Given the description of an element on the screen output the (x, y) to click on. 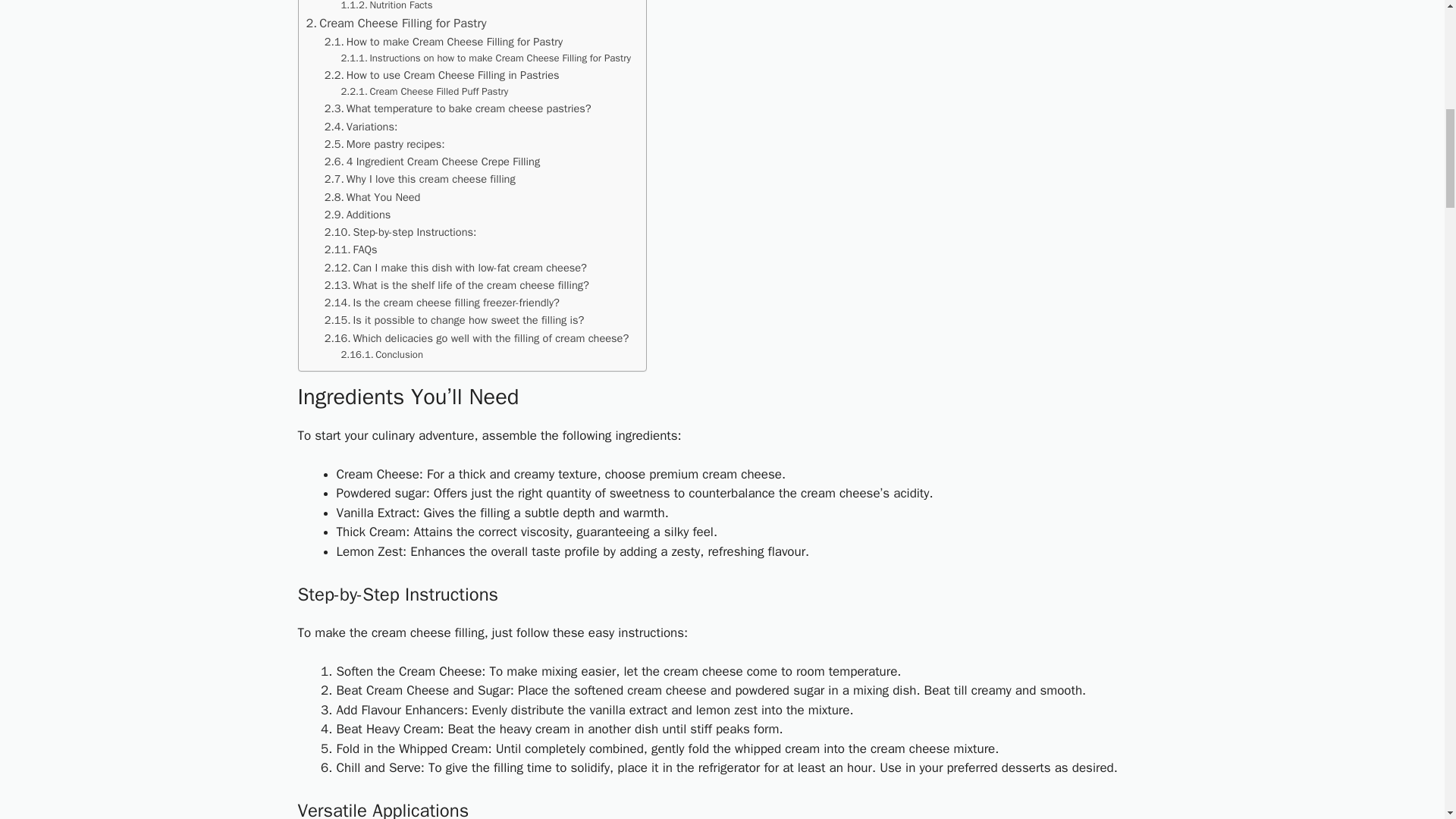
What You Need (372, 197)
How to make Cream Cheese Filling for Pastry (443, 41)
Cream Cheese Filling for Pastry (395, 23)
Cream Cheese Filled Puff Pastry (424, 91)
Instructions on how to make Cream Cheese Filling for Pastry (485, 58)
Nutrition Facts (386, 6)
Why I love this cream cheese filling (419, 179)
How to use Cream Cheese Filling in Pastries (441, 75)
Instructions on how to make Cream Cheese Filling for Pastry (485, 58)
Which delicacies go well with the filling of cream cheese? (476, 338)
